Given the description of an element on the screen output the (x, y) to click on. 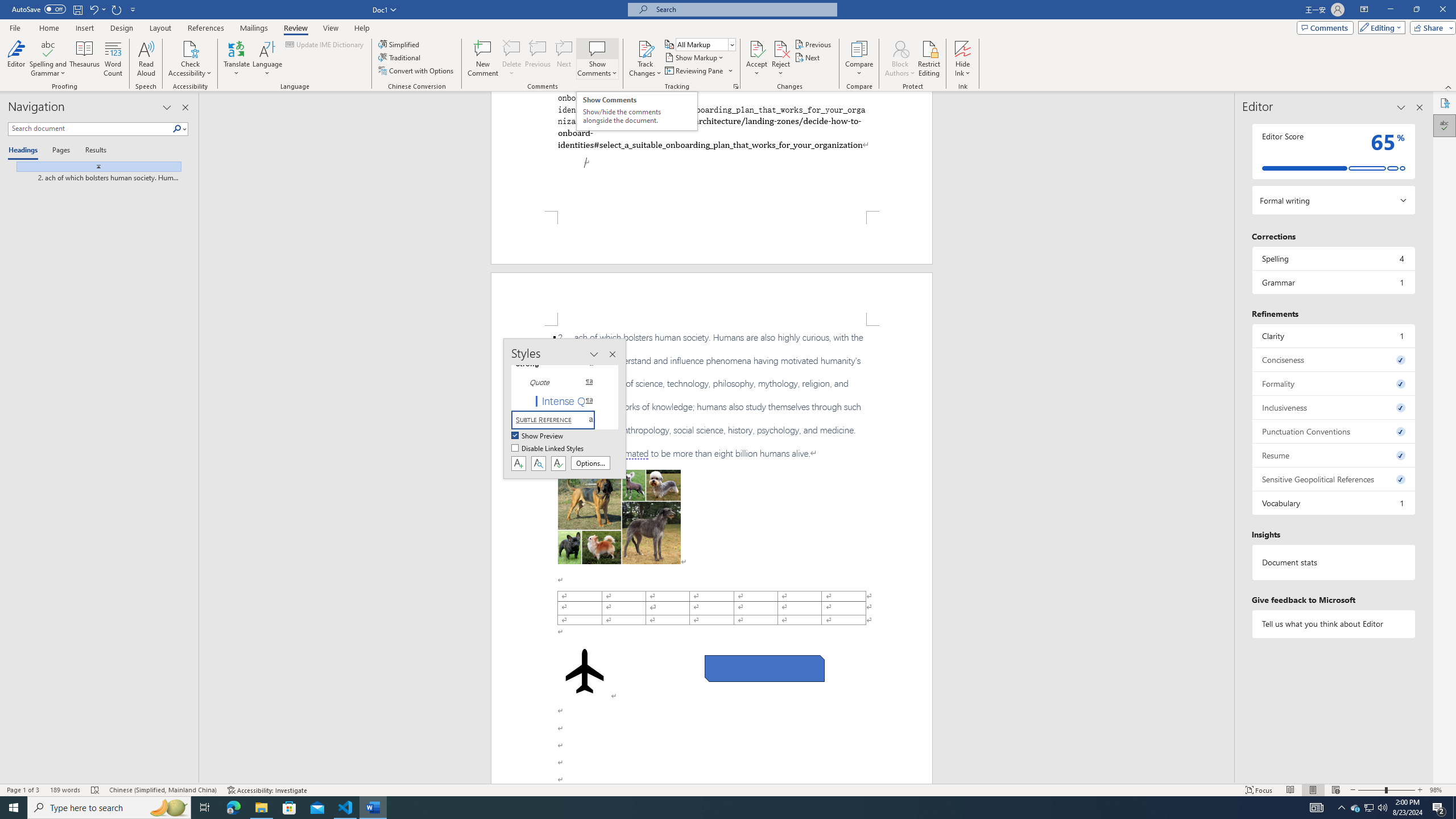
Grammar, 1 issue. Press space or enter to review items. (1333, 282)
Block Authors (900, 48)
Reviewing Pane (698, 69)
Display for Review (705, 44)
Accept (756, 58)
Tell us what you think about Editor (1333, 624)
Formality, 0 issues. Press space or enter to review items. (1333, 383)
